Given the description of an element on the screen output the (x, y) to click on. 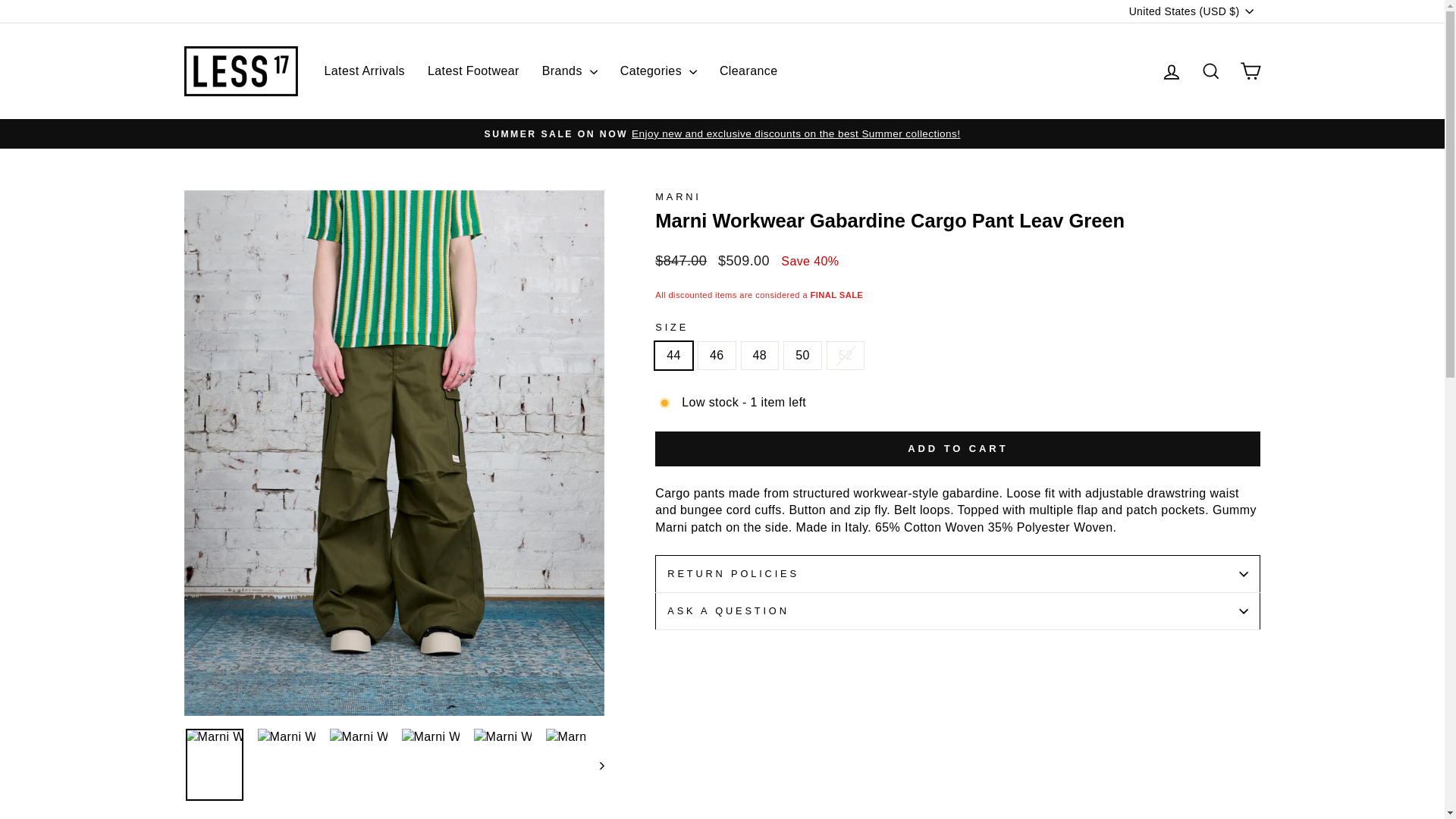
account (1170, 71)
icon-search (1210, 70)
